Given the description of an element on the screen output the (x, y) to click on. 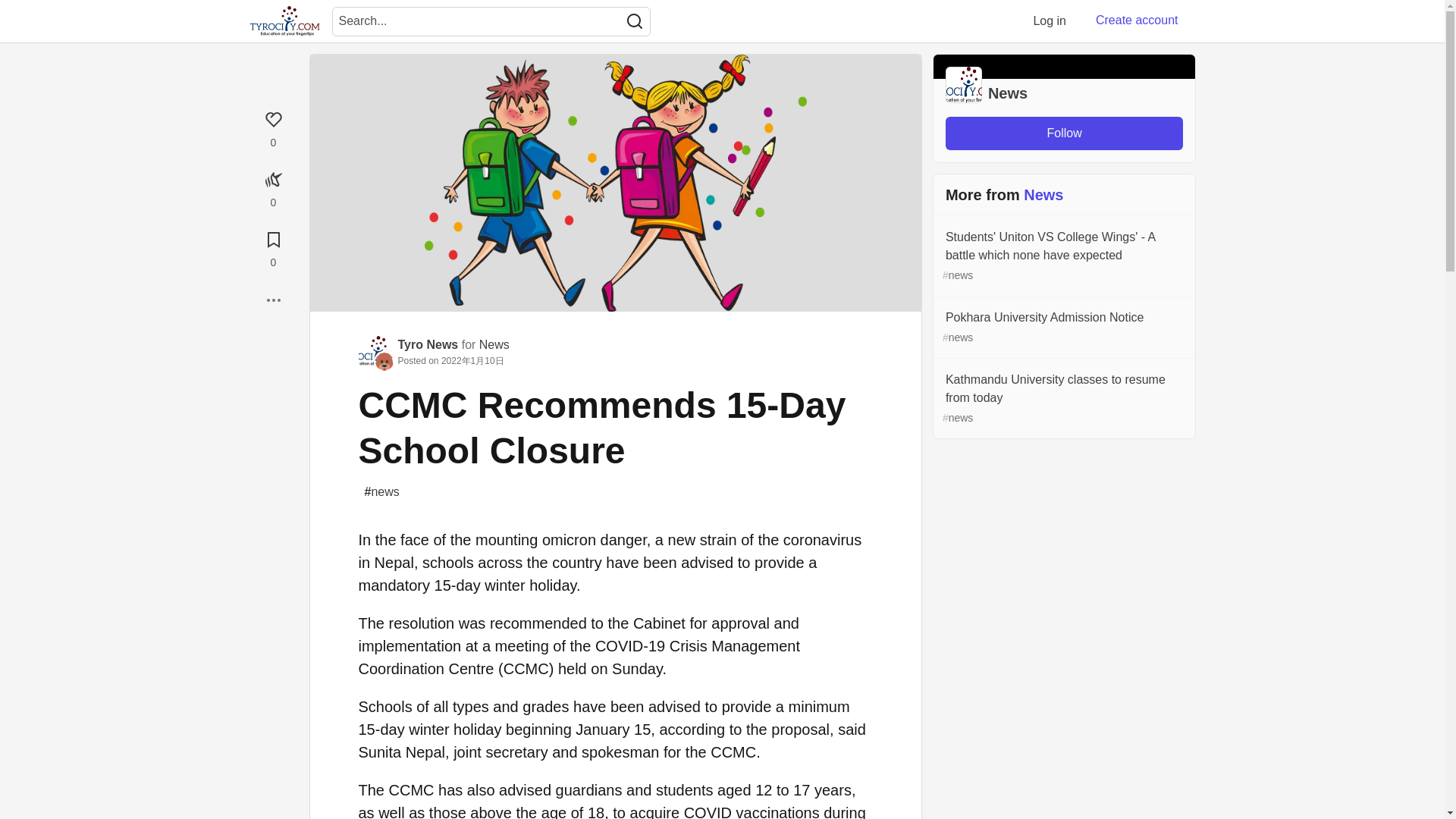
0 (272, 187)
0 (272, 247)
Log in (1049, 20)
More... (272, 300)
More... (272, 299)
Create account (1136, 20)
News (494, 344)
0 (272, 127)
Tyro News (427, 344)
